Given the description of an element on the screen output the (x, y) to click on. 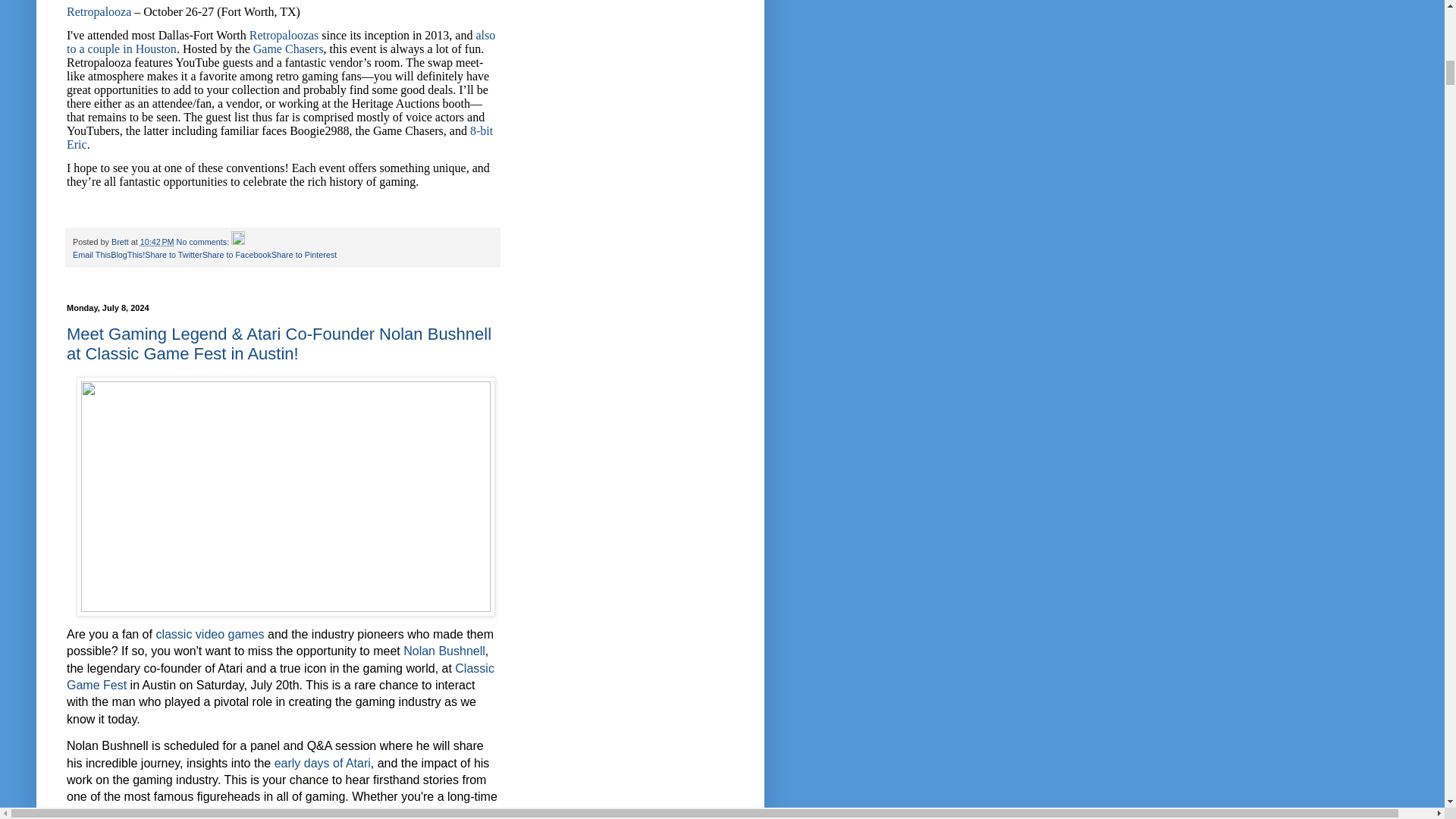
also to a couple in Houston (280, 41)
Retropalooza (98, 11)
8-bit Eric (279, 137)
Retropaloozas (283, 34)
Edit Post (237, 241)
Game Chasers (288, 48)
permanent link (156, 241)
BlogThis! (127, 254)
Share to Facebook (236, 254)
author profile (121, 241)
BlogThis! (127, 254)
Email This (91, 254)
Share to Twitter (173, 254)
Share to Pinterest (303, 254)
Brett (121, 241)
